Given the description of an element on the screen output the (x, y) to click on. 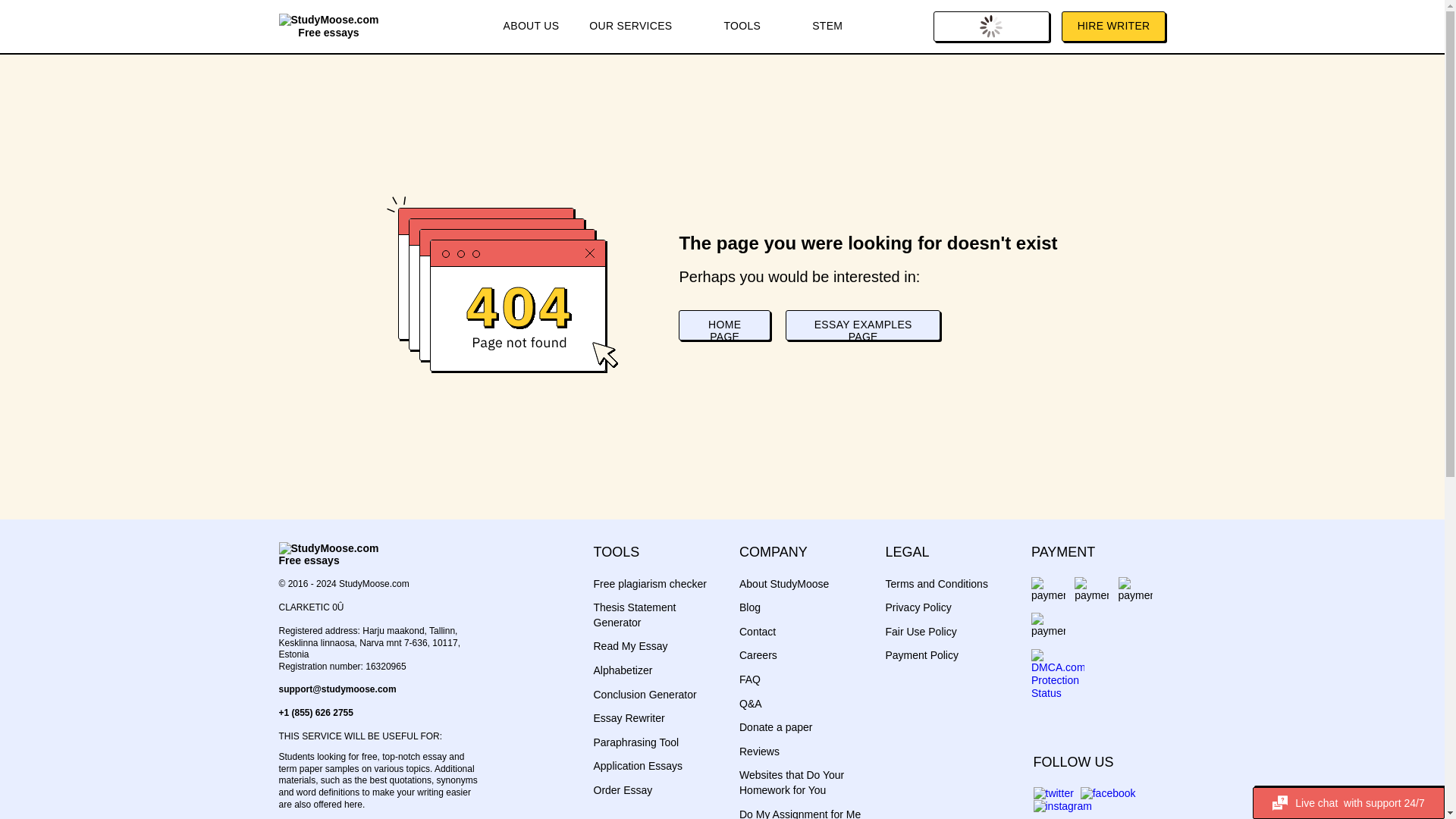
Thesis Statement Generator (633, 614)
FAQ (749, 679)
HIRE WRITER (1113, 26)
Read My Essay (629, 645)
STEM (826, 26)
Donate a paper (775, 727)
OUR SERVICES (640, 26)
Free essays (328, 26)
Application Essays (637, 766)
Contact (757, 631)
